Given the description of an element on the screen output the (x, y) to click on. 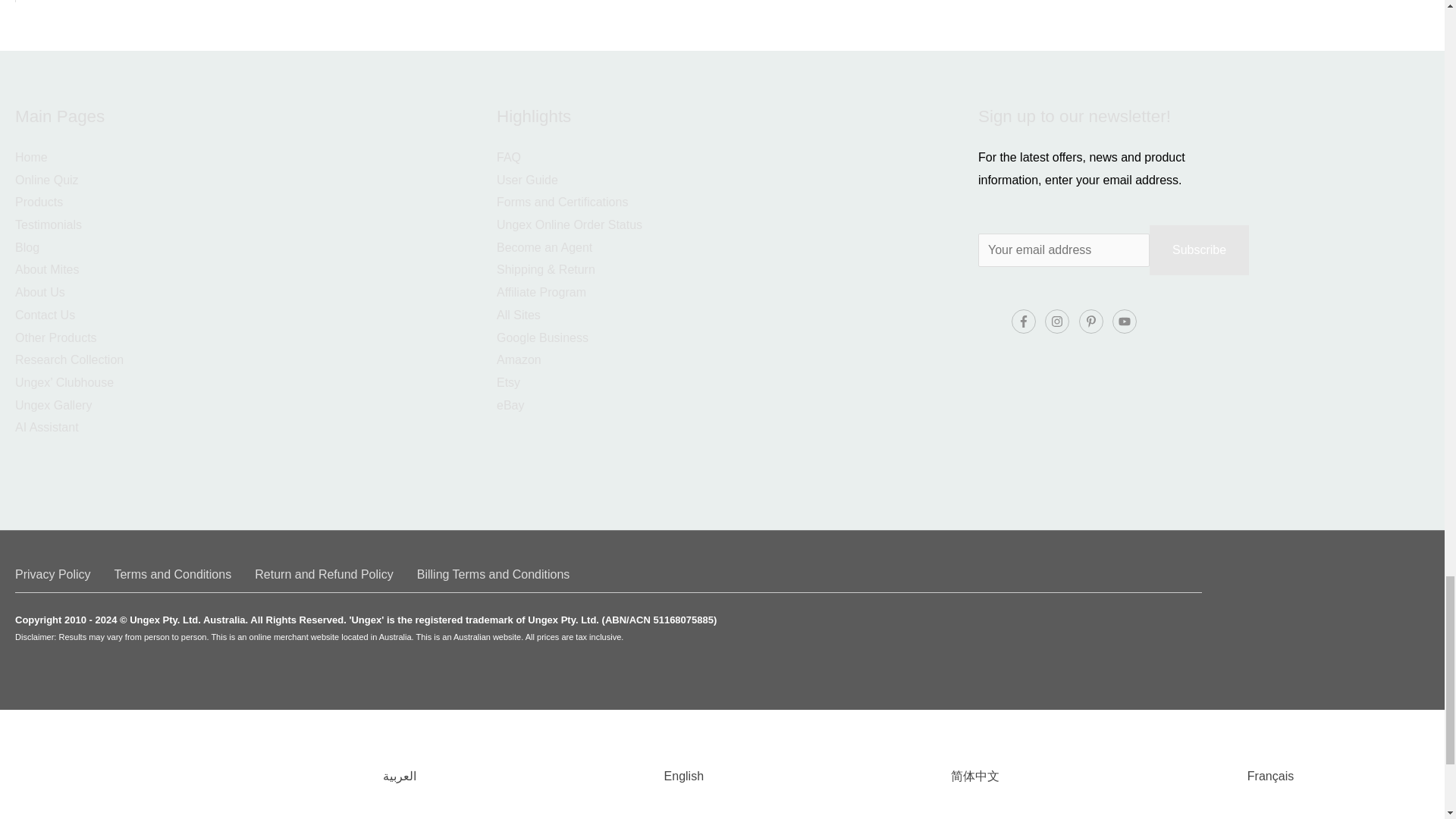
Subscribe (1199, 250)
